Given the description of an element on the screen output the (x, y) to click on. 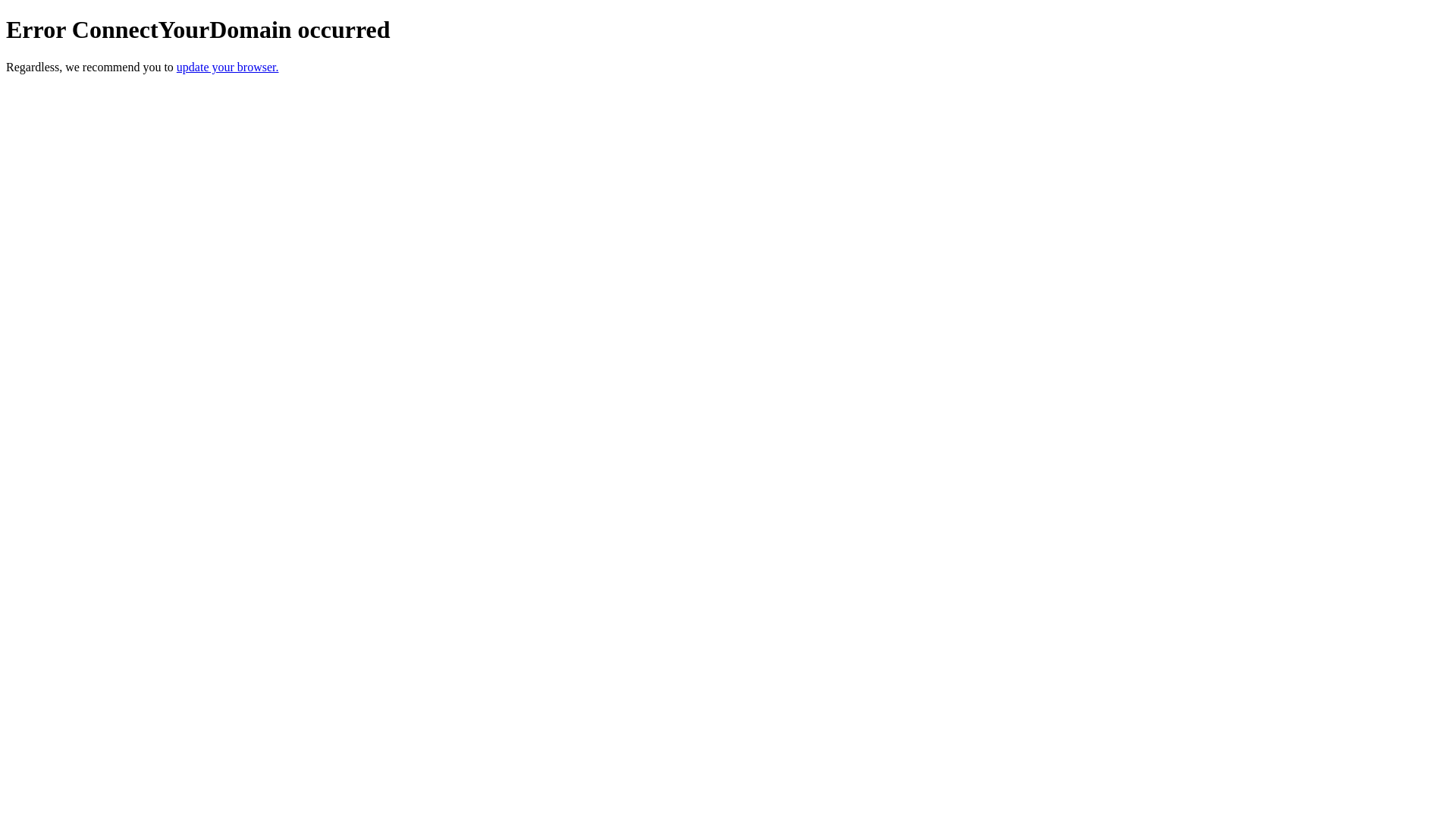
update your browser. Element type: text (227, 66)
